Given the description of an element on the screen output the (x, y) to click on. 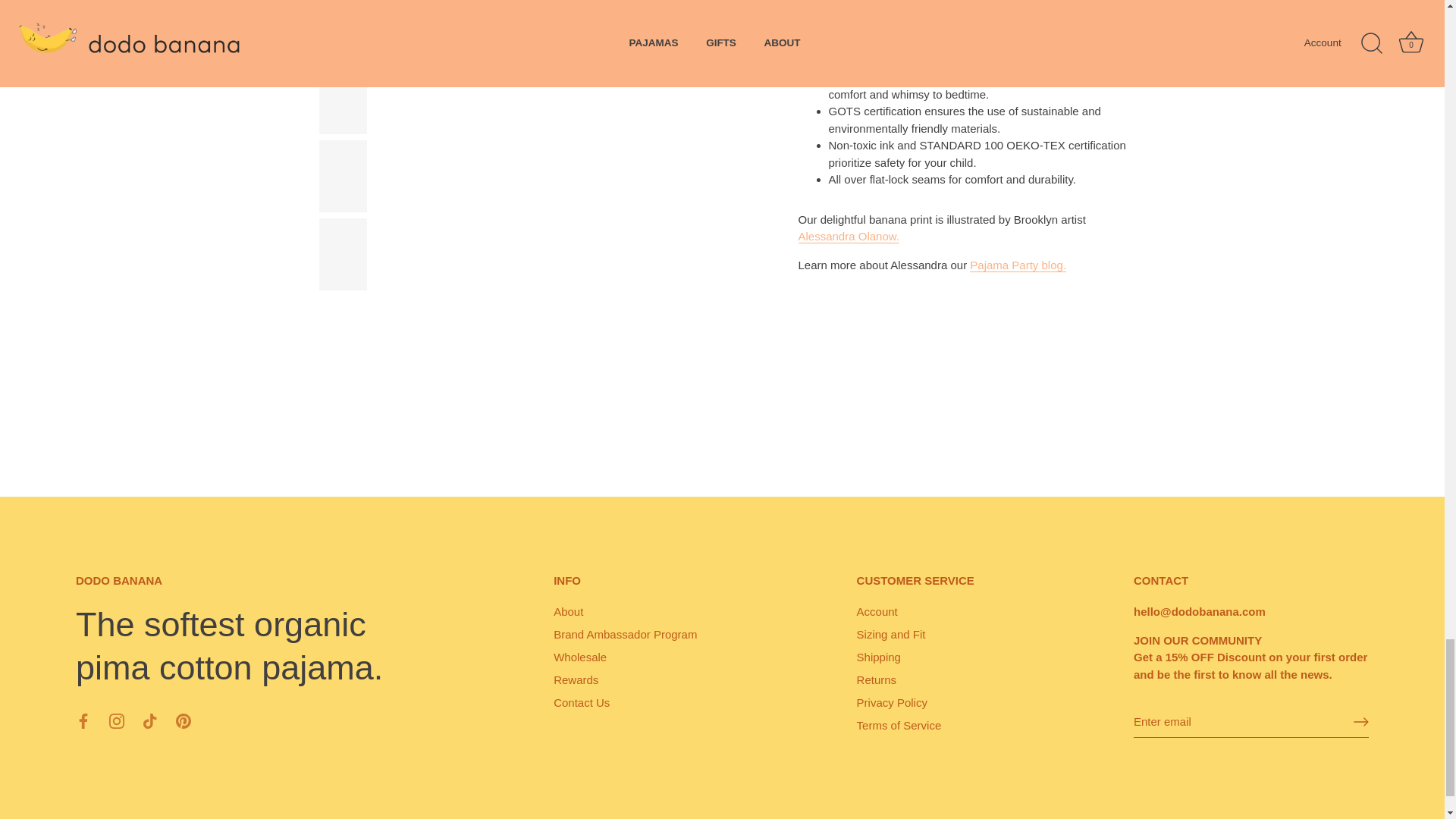
Instagram (116, 720)
Pinterest (183, 720)
RIGHT ARROW LONG (1361, 721)
